Given the description of an element on the screen output the (x, y) to click on. 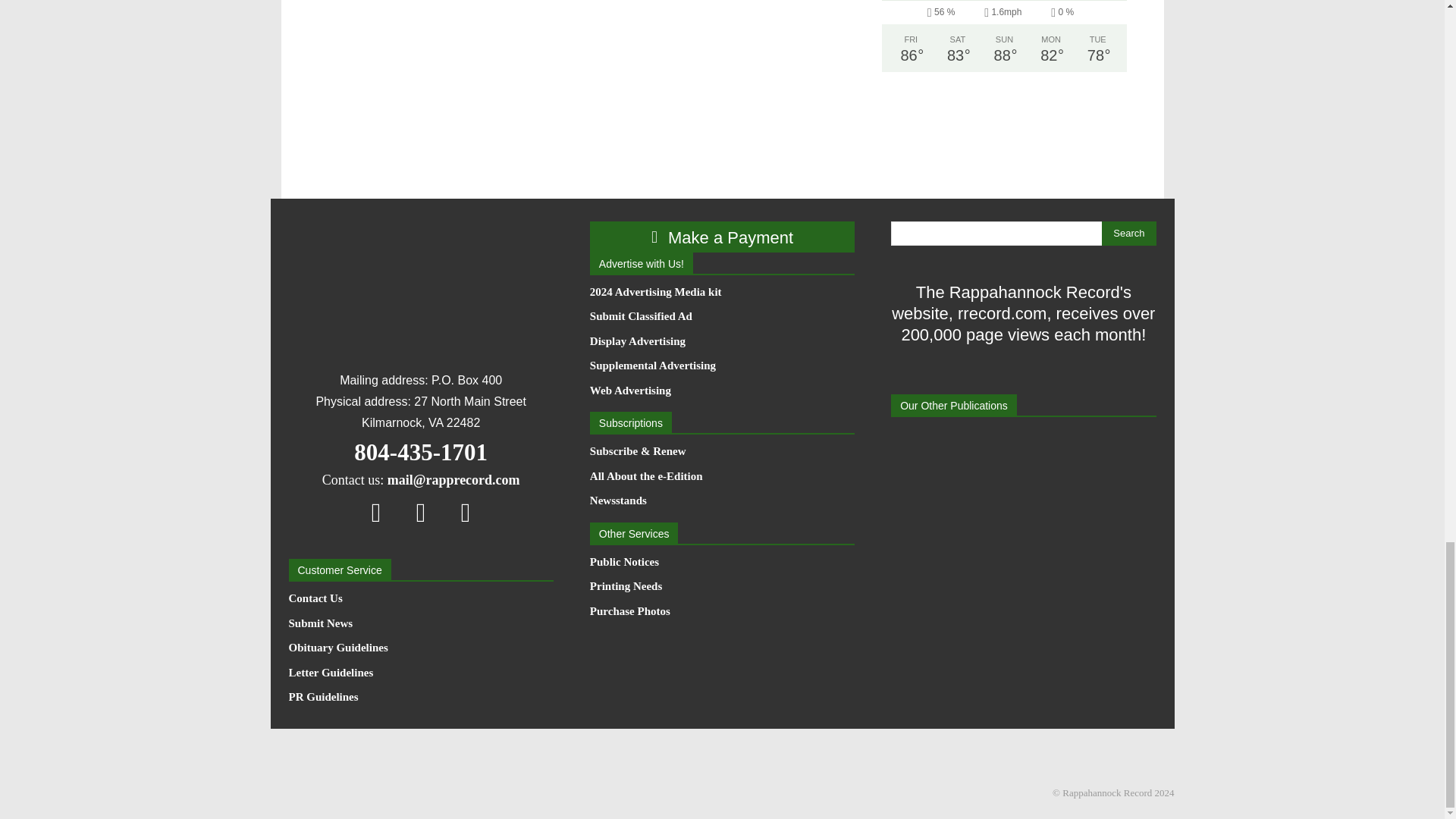
Letter Guidelines (420, 672)
Obituary Guidelines (420, 648)
Instagram (421, 511)
Twitter (465, 511)
Contact Us (420, 598)
Facebook (376, 511)
Submit News (420, 623)
Make a Payment (721, 236)
